Given the description of an element on the screen output the (x, y) to click on. 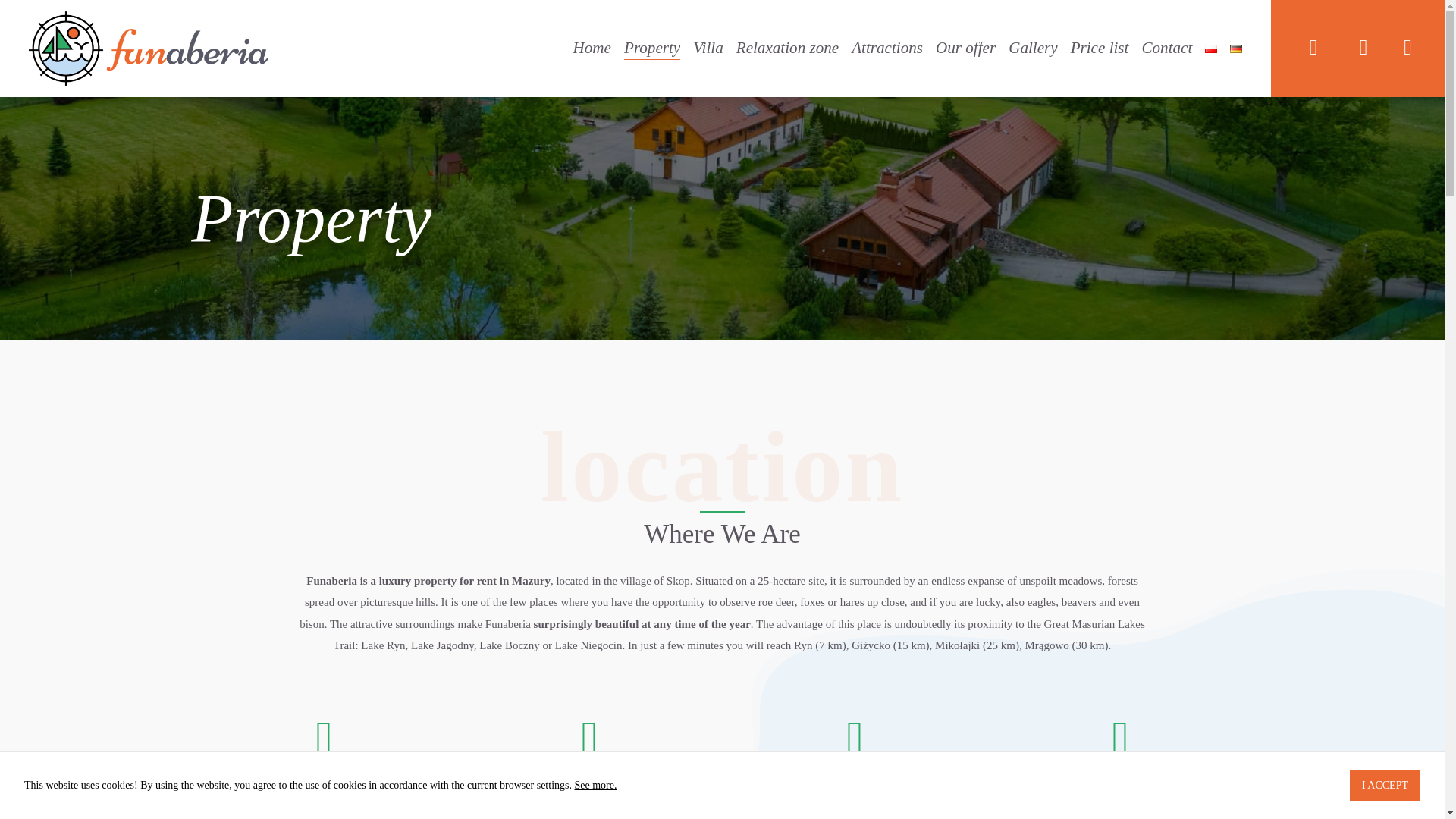
Attractions (887, 48)
Relaxation zone (787, 48)
